Given the description of an element on the screen output the (x, y) to click on. 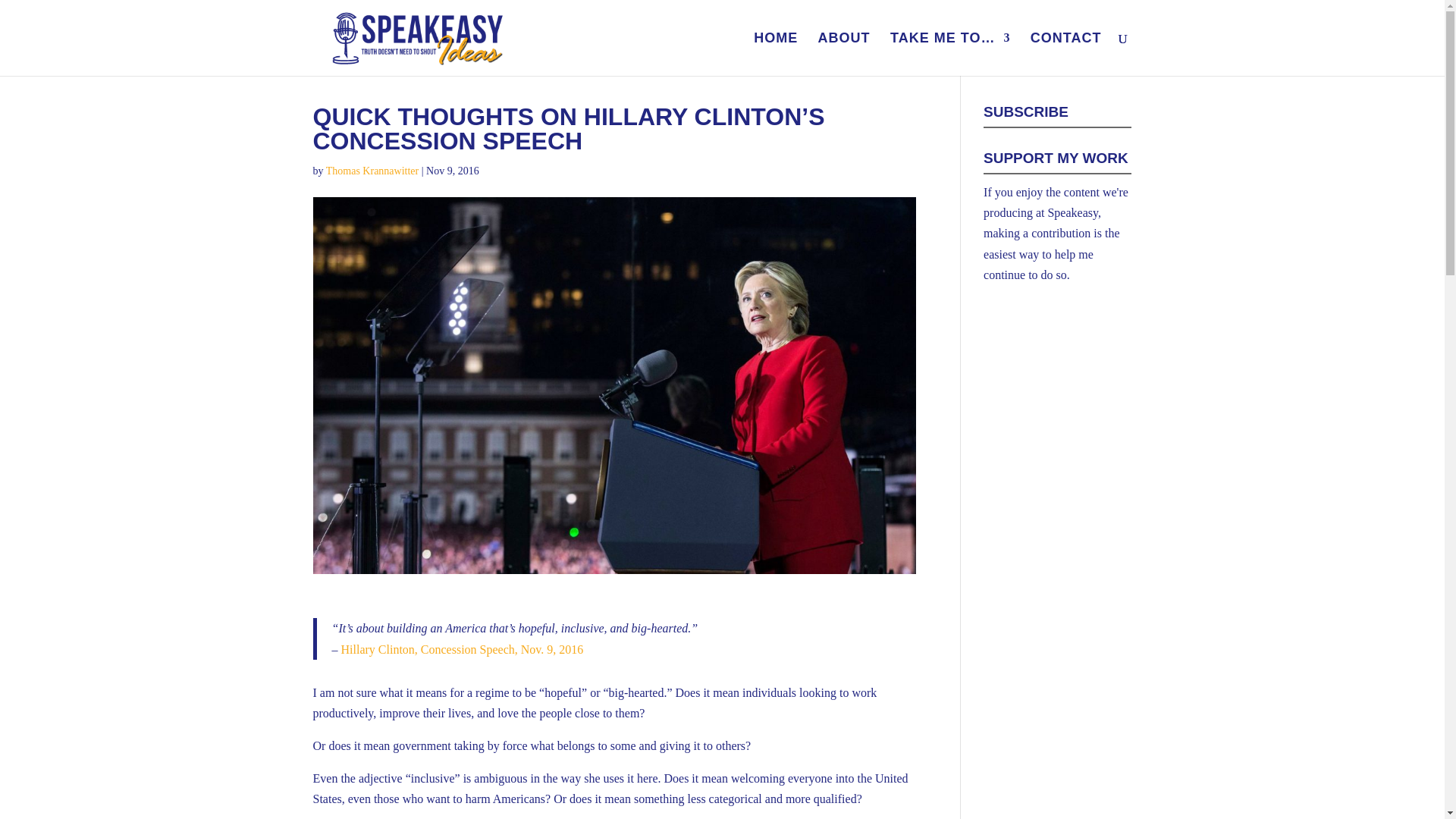
ABOUT (844, 54)
HOME (775, 54)
CONTACT (1066, 54)
Thomas Krannawitter (372, 170)
Posts by Thomas Krannawitter (372, 170)
Hillary Clinton, Concession Speech, Nov. 9, 2016 (461, 649)
